Given the description of an element on the screen output the (x, y) to click on. 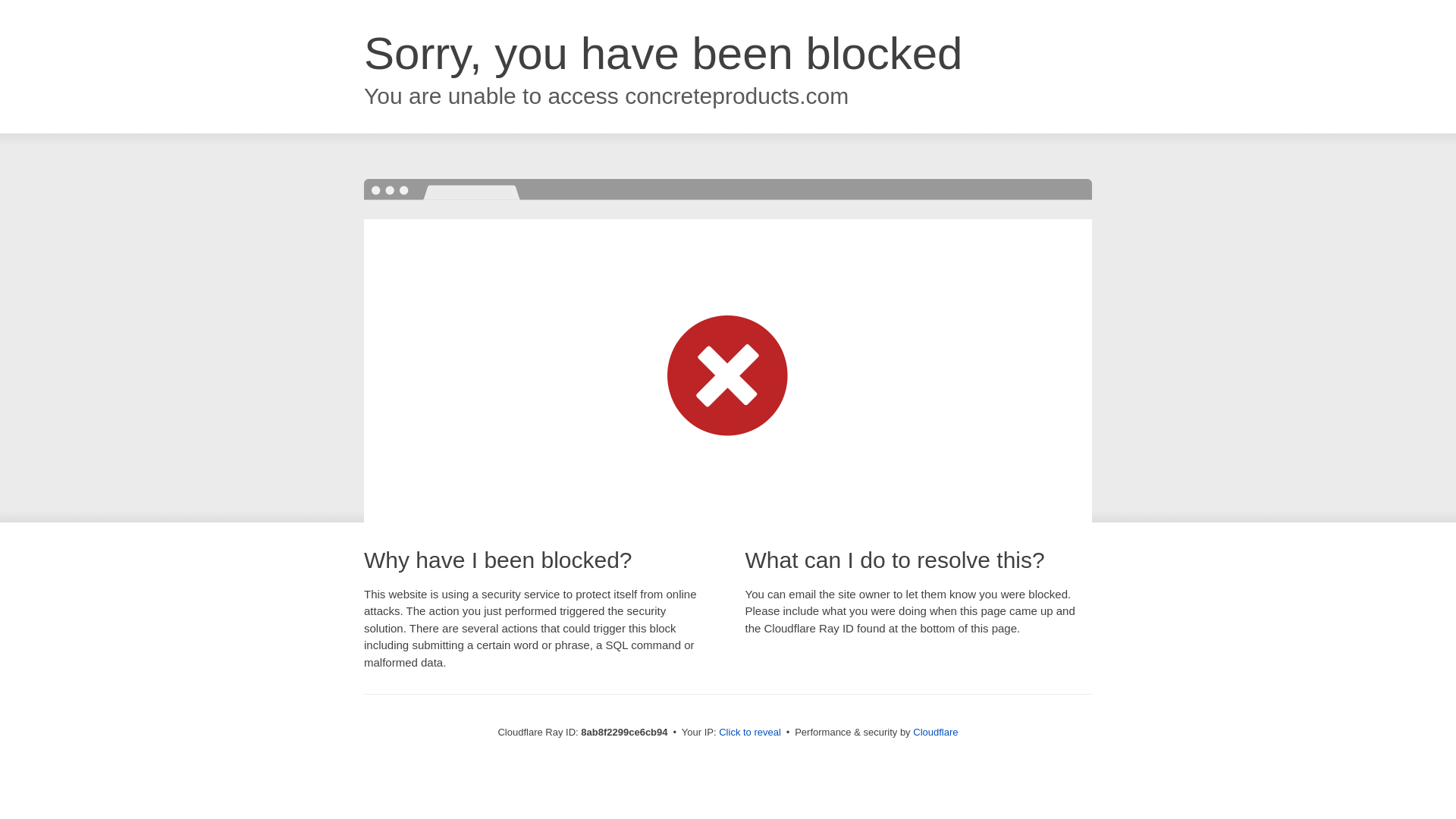
Click to reveal (749, 732)
Cloudflare (935, 731)
